Given the description of an element on the screen output the (x, y) to click on. 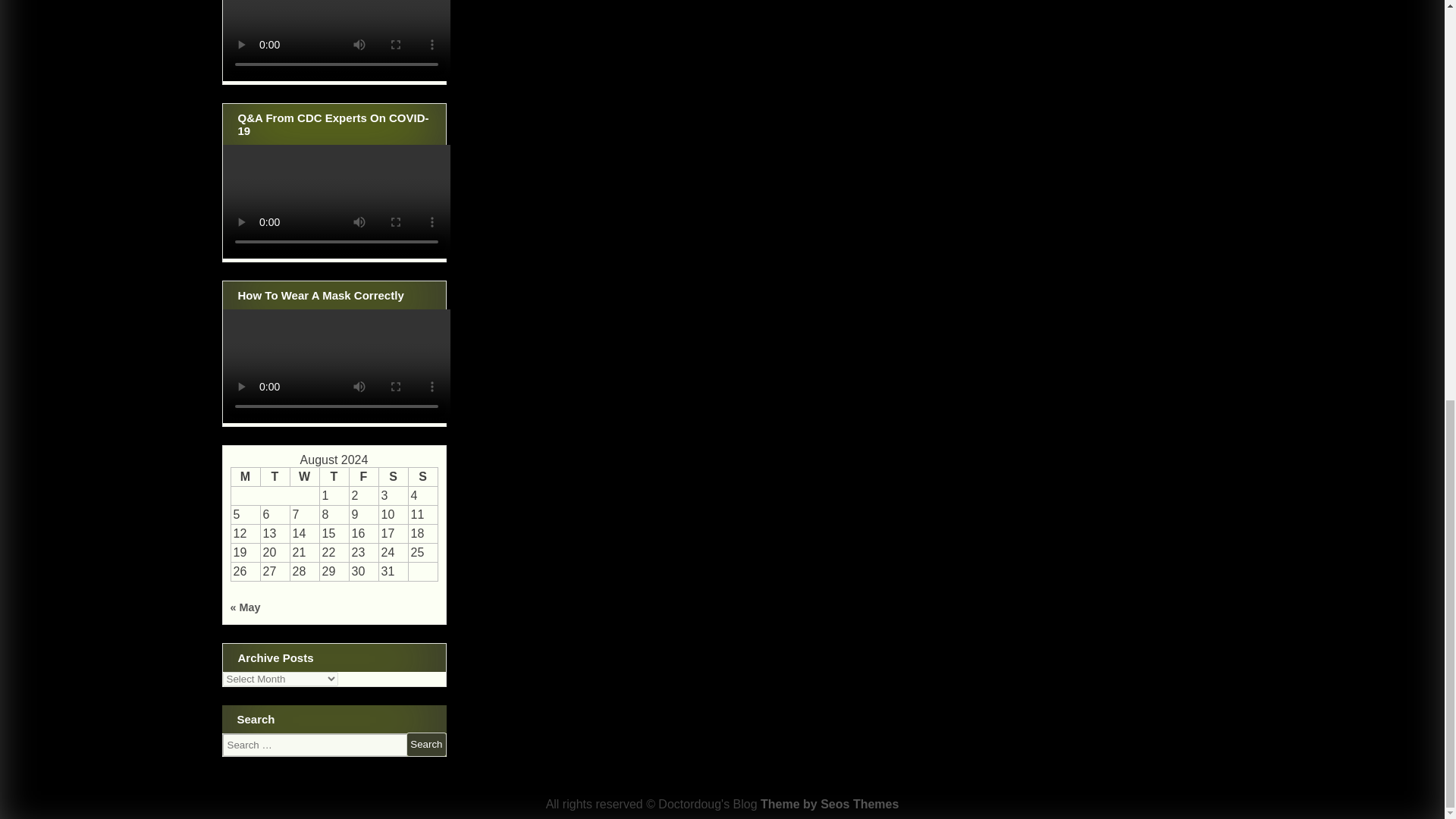
Tuesday (274, 476)
Theme by Seos Themes (829, 803)
Monday (245, 476)
Search (425, 744)
Search (425, 744)
Sunday (422, 476)
Search (425, 744)
Wednesday (303, 476)
Thursday (333, 476)
Seos Themes (829, 803)
Saturday (392, 476)
Friday (363, 476)
